Given the description of an element on the screen output the (x, y) to click on. 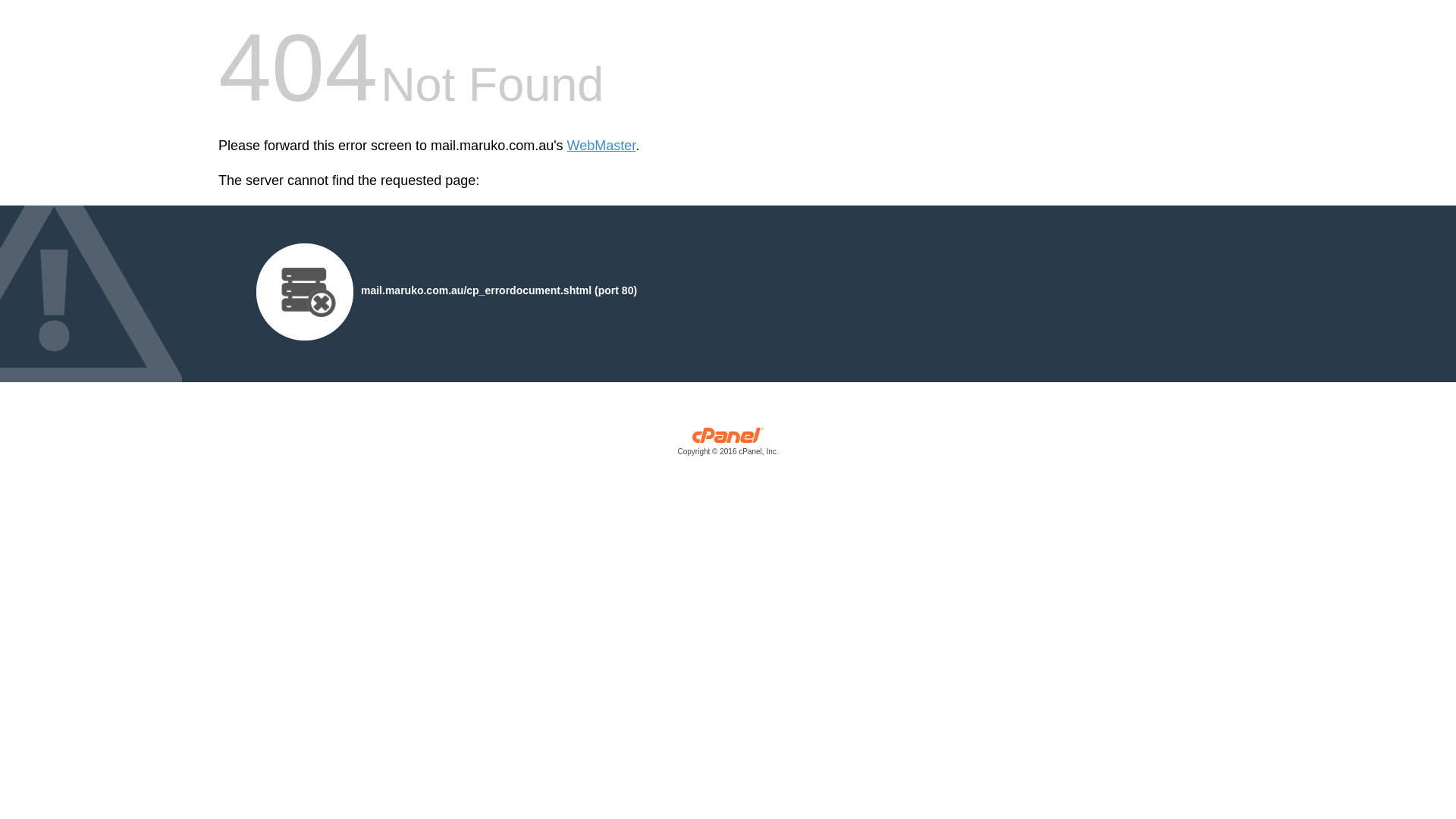
WebMaster Element type: text (601, 145)
